Given the description of an element on the screen output the (x, y) to click on. 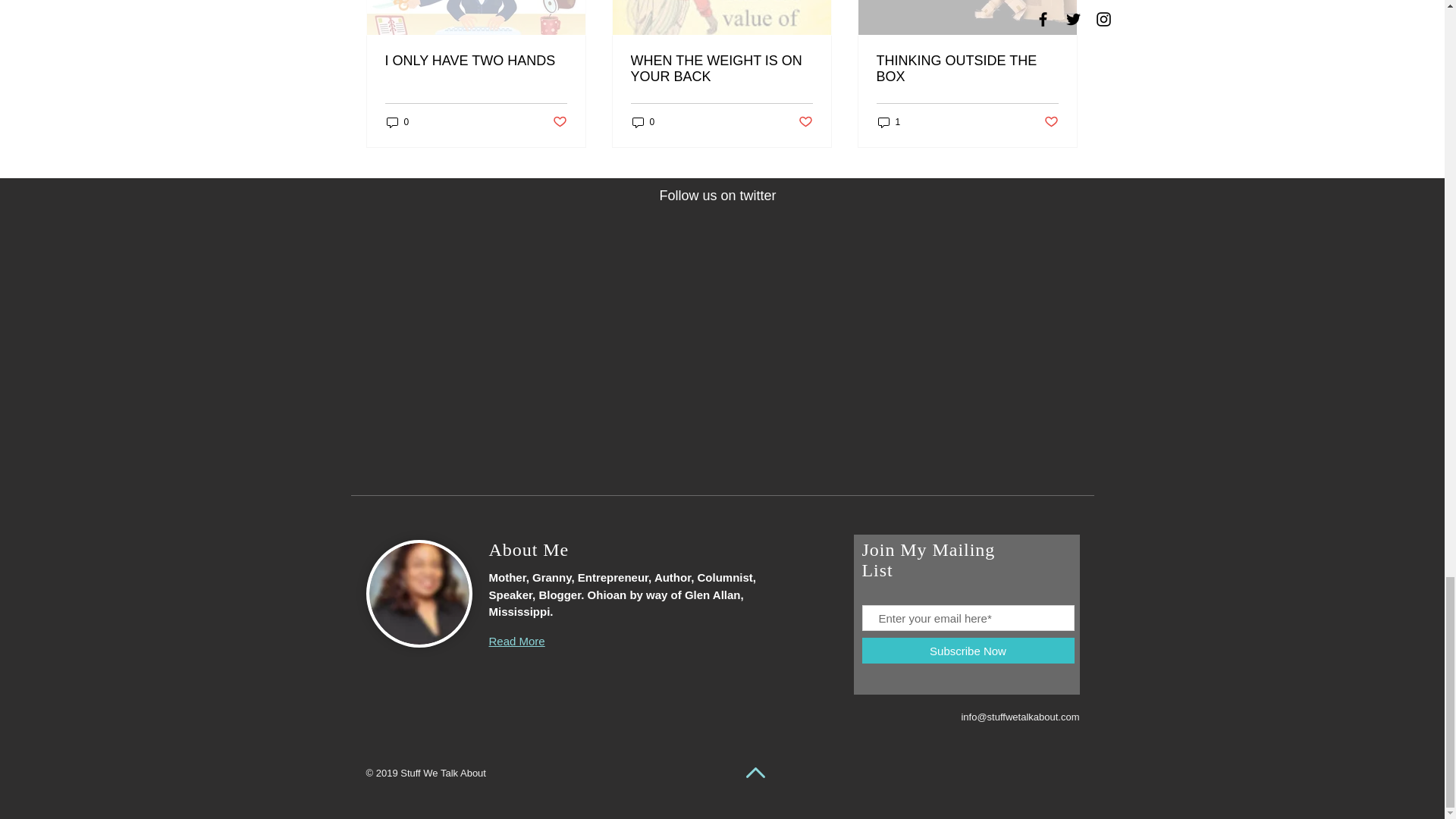
Post not marked as liked (558, 122)
THINKING OUTSIDE THE BOX (967, 69)
0 (397, 121)
I ONLY HAVE TWO HANDS (476, 60)
0 (643, 121)
WHEN THE WEIGHT IS ON YOUR BACK (721, 69)
Post not marked as liked (804, 122)
